Given the description of an element on the screen output the (x, y) to click on. 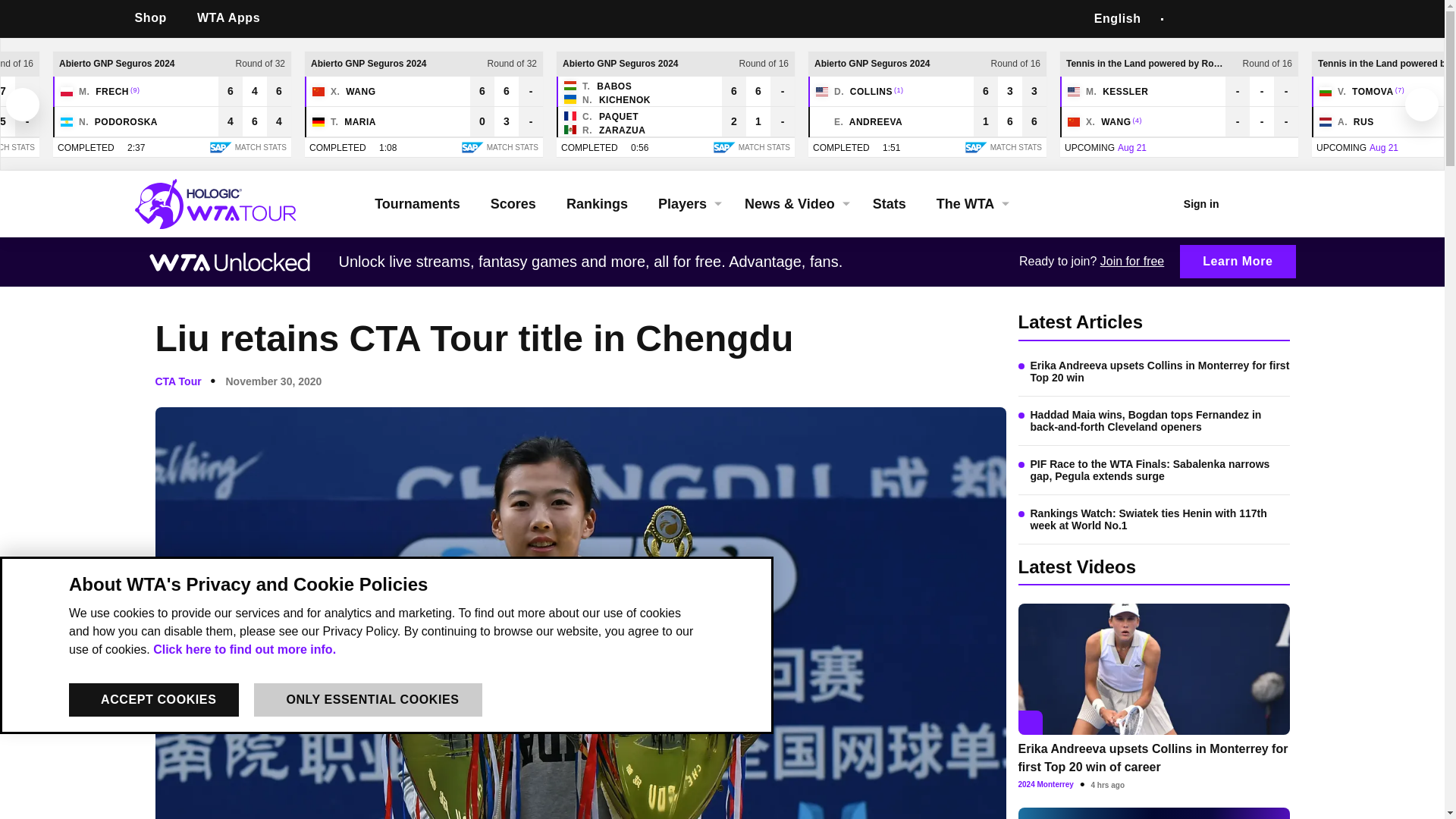
Instagram (1257, 19)
Shop (156, 18)
YouTube (1294, 19)
Facebook (1186, 19)
English (1117, 18)
Click here to find out more info. (244, 649)
WTA Apps (234, 18)
Twitter (153, 699)
